Given the description of an element on the screen output the (x, y) to click on. 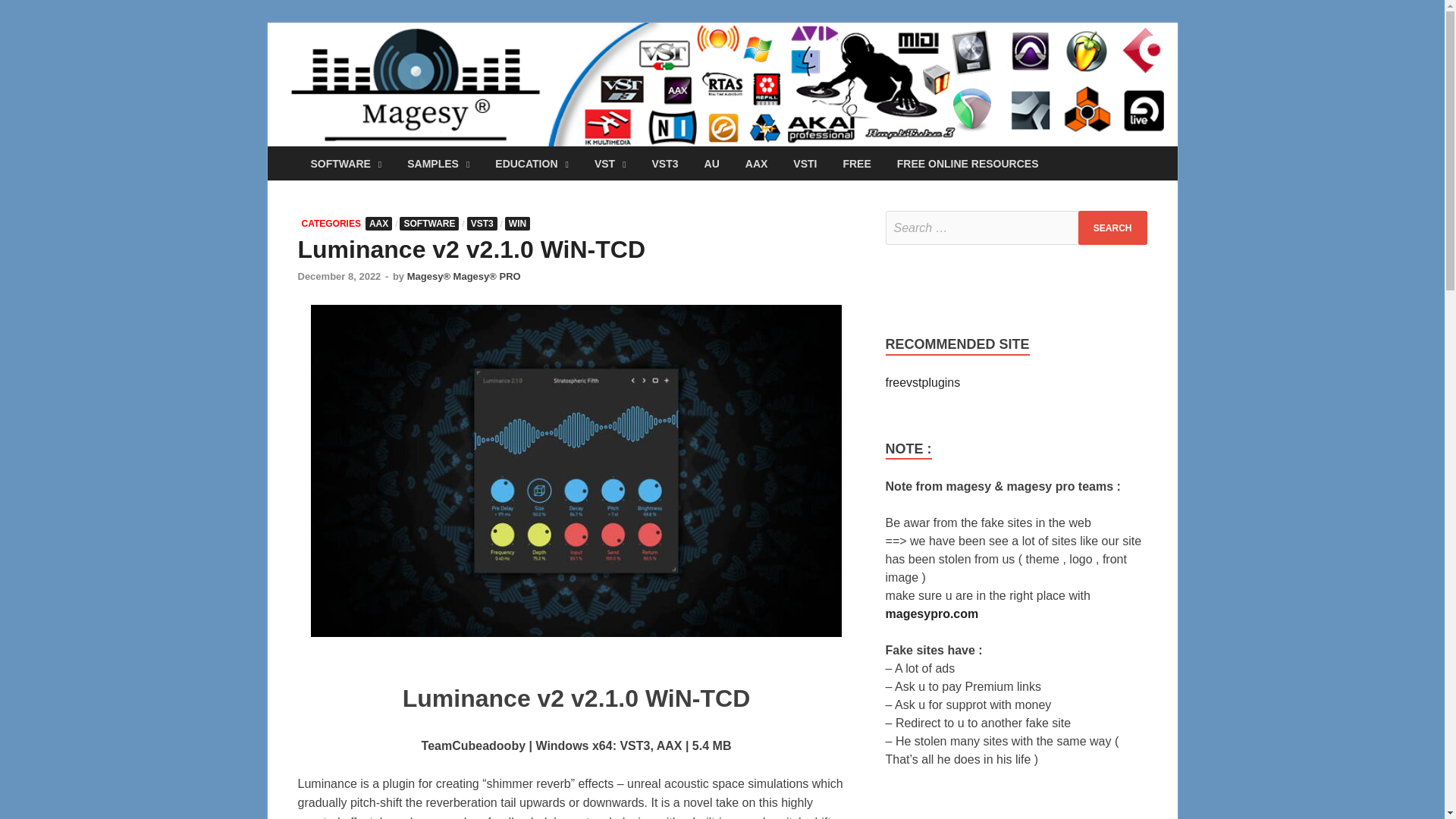
SOFTWARE (345, 163)
Search (1112, 227)
VST3 (665, 163)
AU (711, 163)
VST (609, 163)
FREE (856, 163)
FREE ONLINE RESOURCES (967, 163)
EDUCATION (530, 163)
AAX (756, 163)
Search (1112, 227)
SAMPLES (437, 163)
VSTI (804, 163)
